Given the description of an element on the screen output the (x, y) to click on. 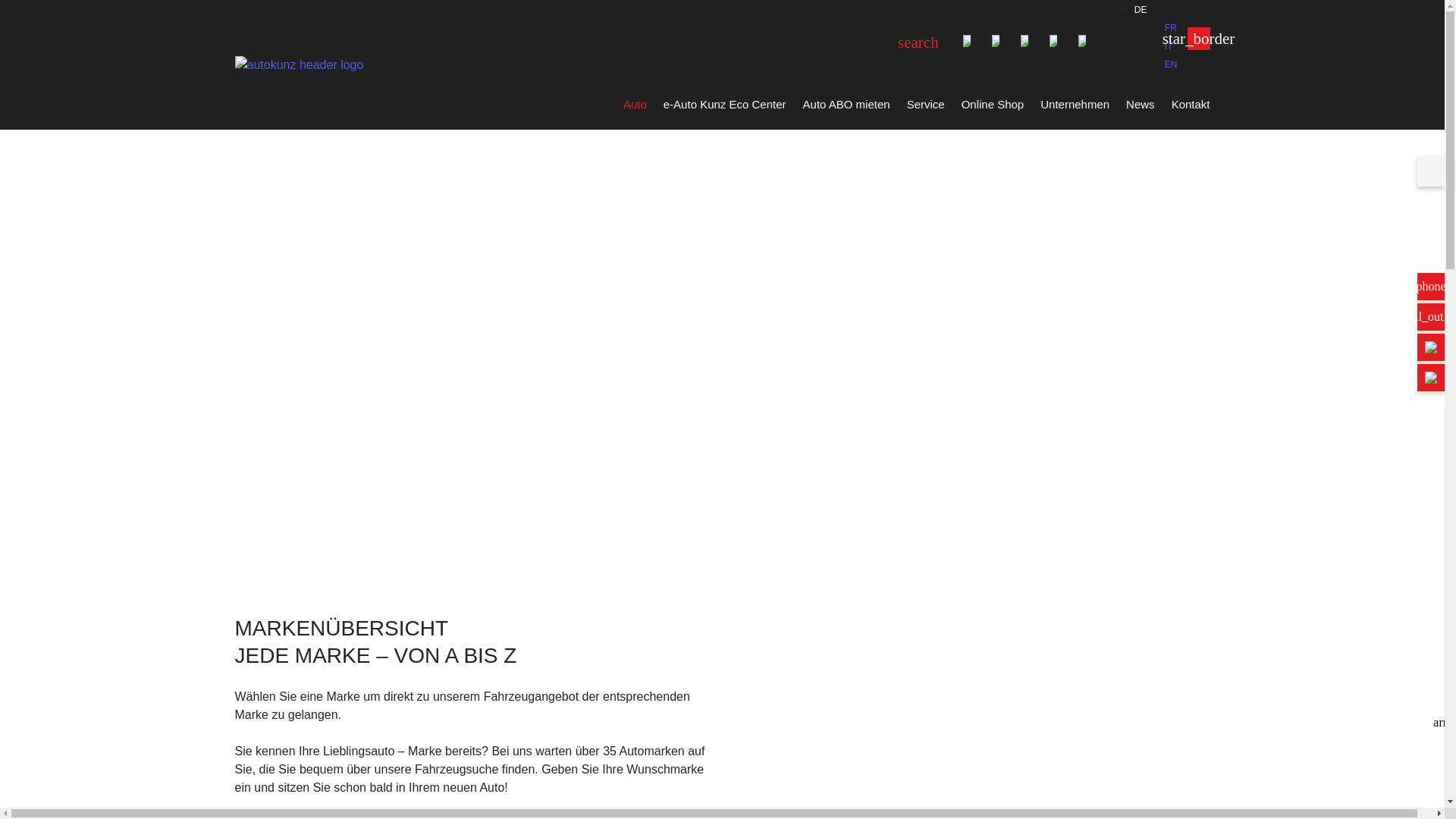
search Element type: text (921, 42)
Kontakt Element type: text (1186, 106)
EN Element type: text (1170, 64)
Service Element type: text (925, 106)
star_border Element type: text (1198, 38)
IT Element type: text (1168, 45)
mail_outline Element type: text (1430, 316)
e-Auto Kunz Eco Center Element type: text (724, 106)
News Element type: text (1140, 106)
phone Element type: text (1430, 286)
FR Element type: text (1170, 27)
Auto Element type: text (635, 106)
DE Element type: text (1140, 9)
Auto ABO mieten Element type: text (846, 106)
Online Shop Element type: text (992, 106)
Unternehmen Element type: text (1074, 106)
